Given the description of an element on the screen output the (x, y) to click on. 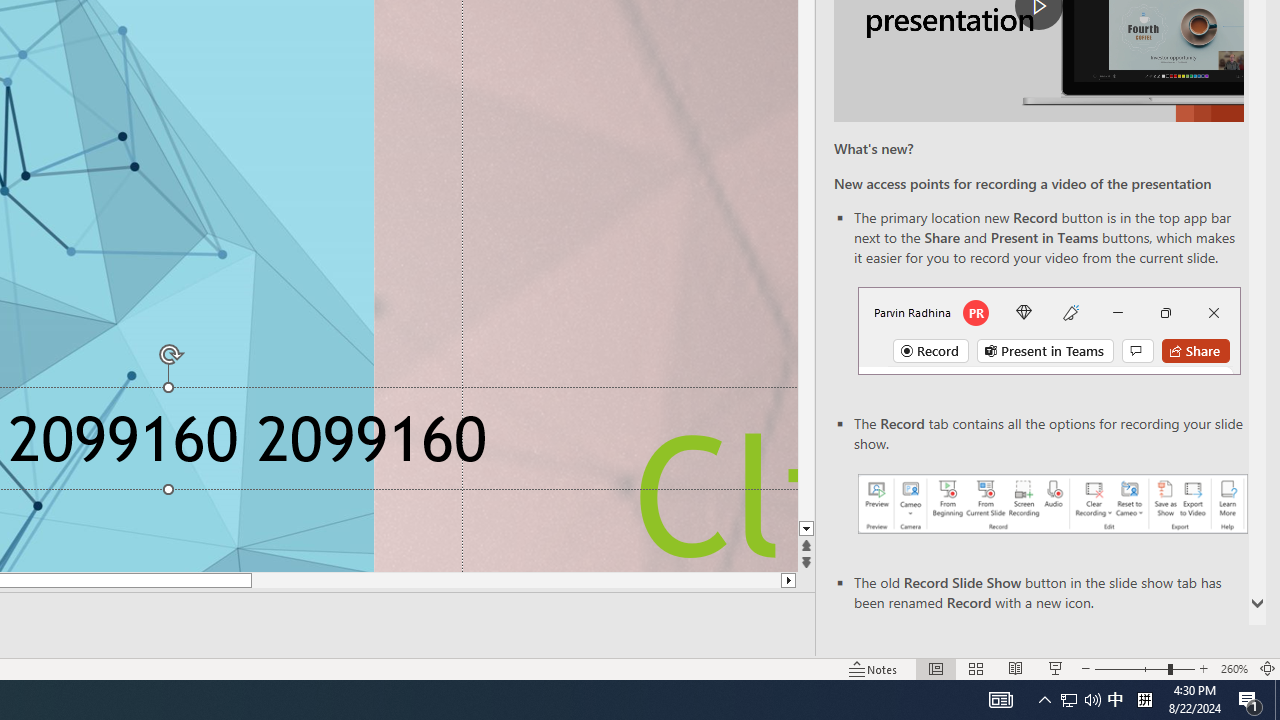
Record your presentations screenshot one (1052, 503)
Zoom 260% (1234, 668)
Record button in top bar (1049, 331)
